Given the description of an element on the screen output the (x, y) to click on. 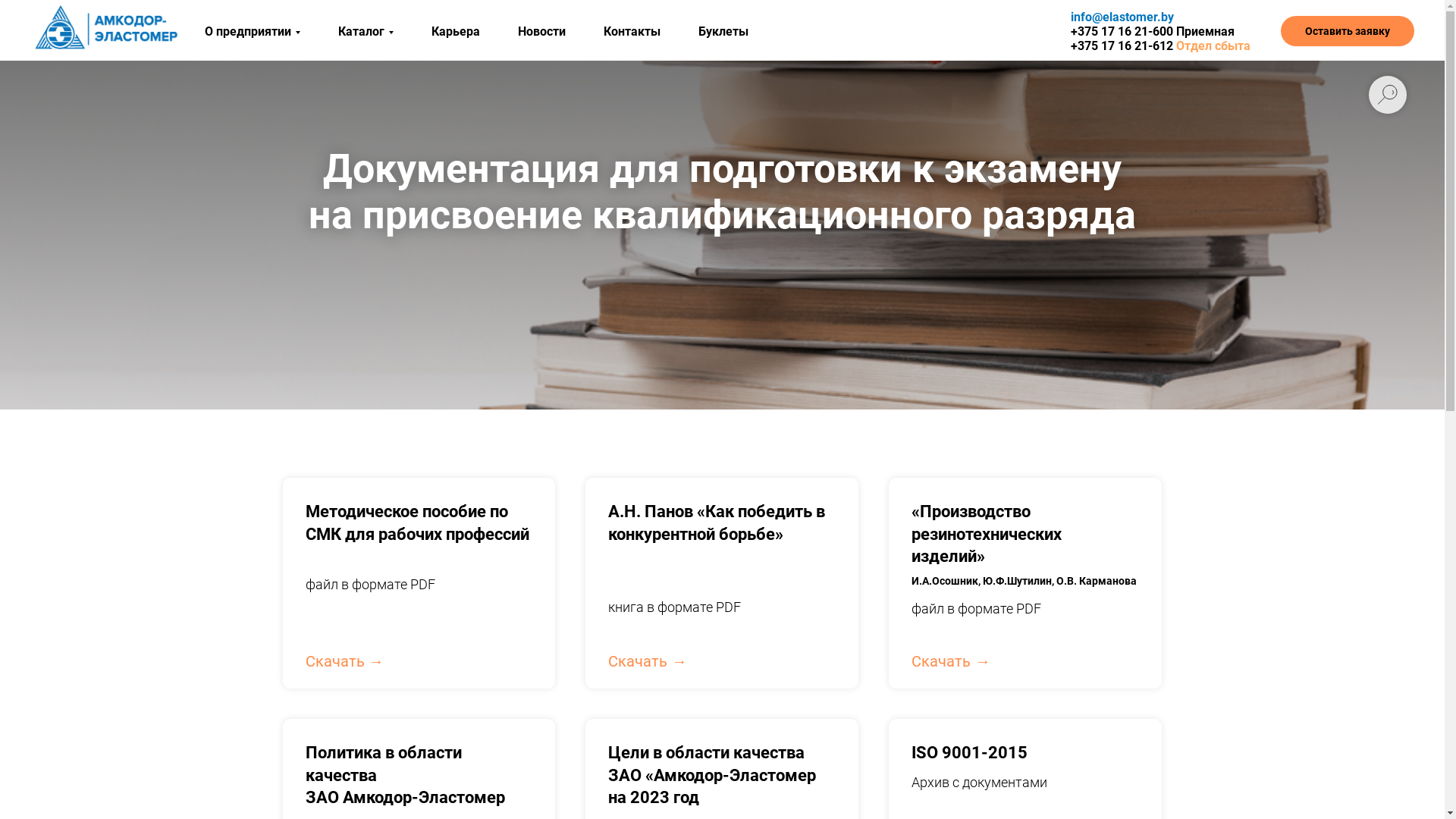
+375 17 16 21-600 Element type: text (1121, 31)
info@elastomer.by Element type: text (1121, 16)
+375 17 16 21-612 Element type: text (1121, 45)
ISO 9001-2015 Element type: text (969, 752)
